Given the description of an element on the screen output the (x, y) to click on. 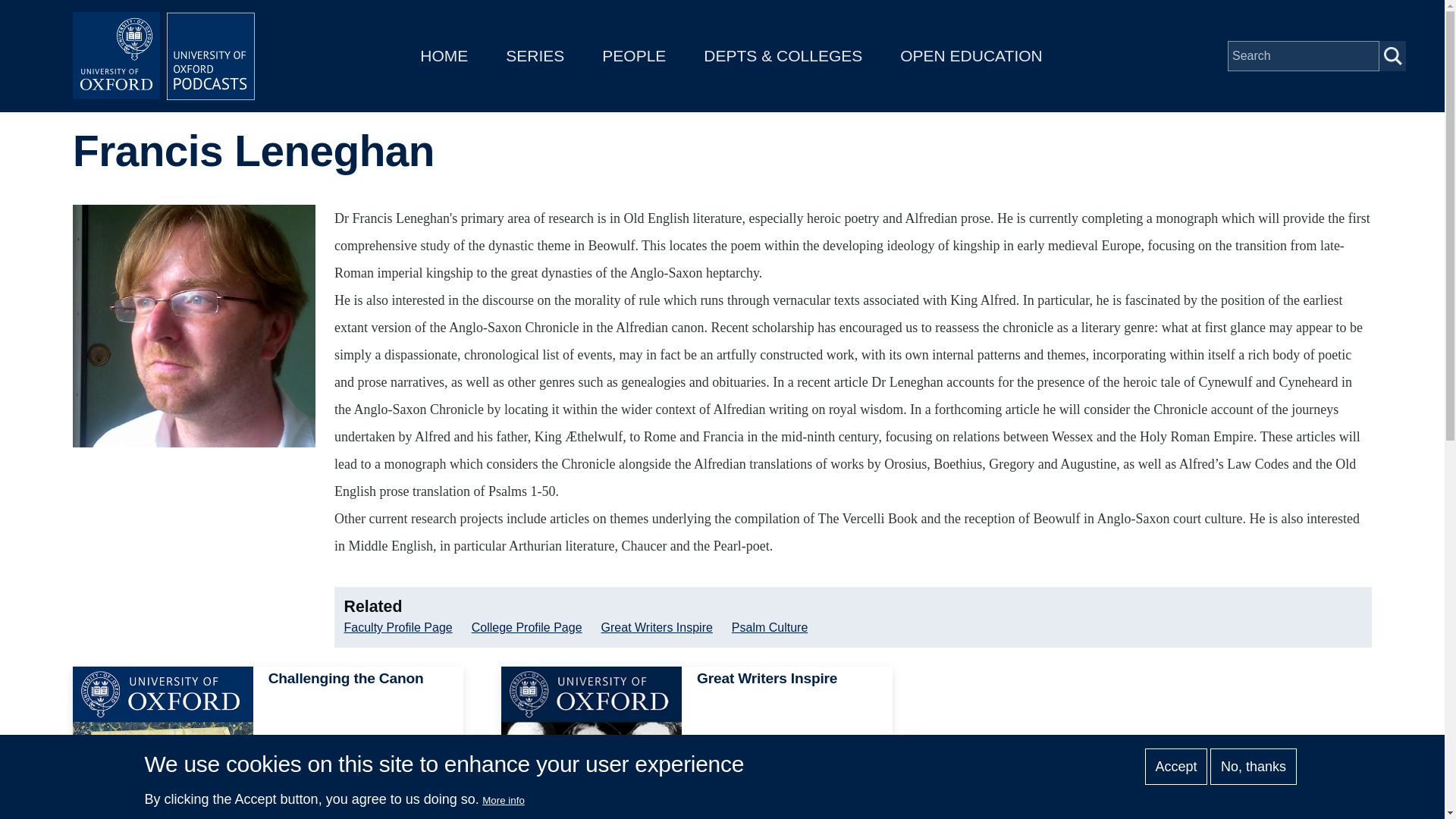
More info (502, 799)
Challenging the Canon (162, 742)
Psalm Culture (770, 627)
No, thanks (1252, 766)
OPEN EDUCATION (970, 55)
Francis Leneghan (695, 742)
Faculty Profile Page (193, 325)
SERIES (397, 627)
Accept (534, 55)
